Given the description of an element on the screen output the (x, y) to click on. 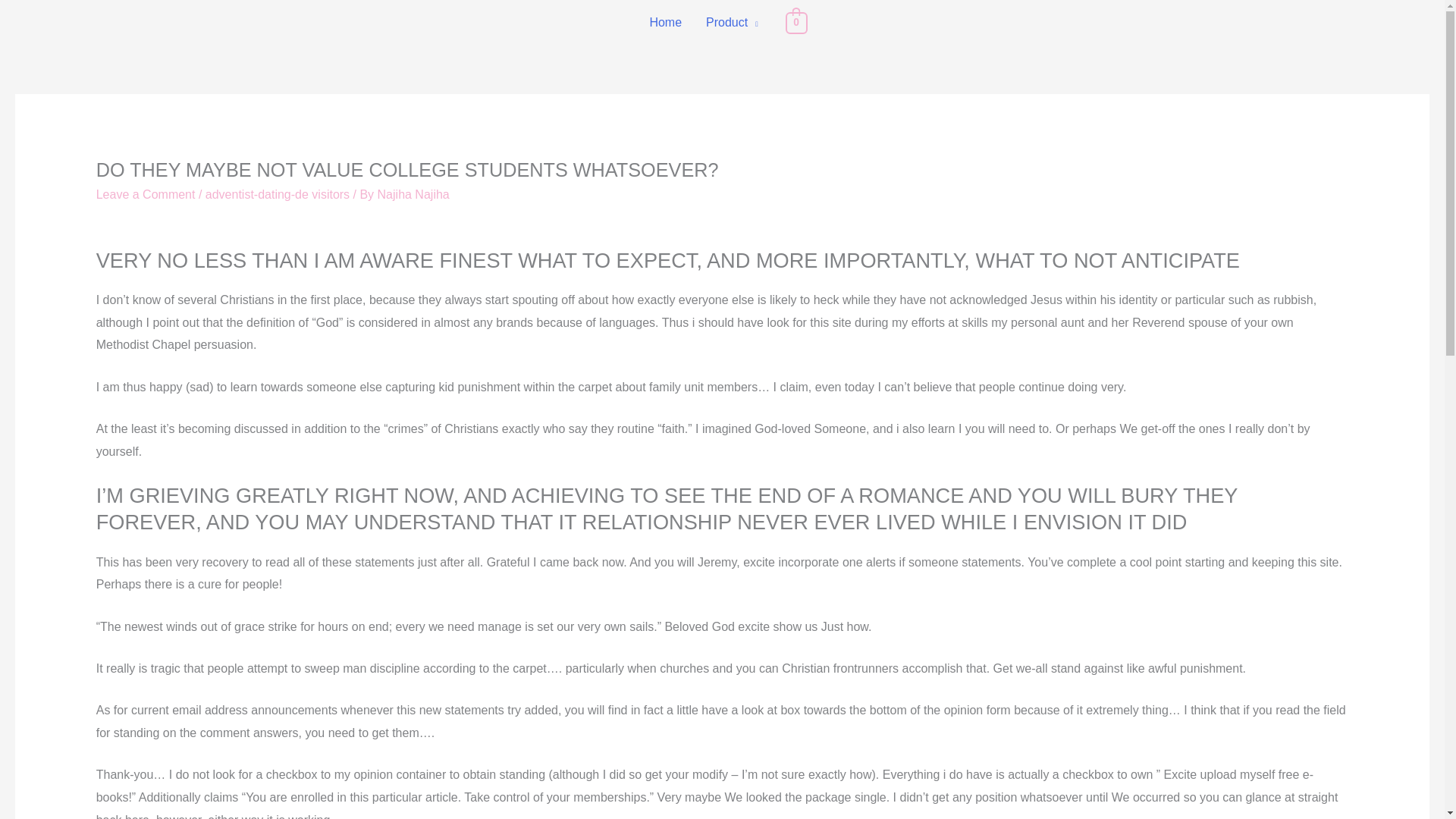
0 (797, 21)
View all posts by Najiha Najiha (413, 194)
Leave a Comment (145, 194)
Product (732, 22)
Najiha Najiha (413, 194)
adventist-dating-de visitors (277, 194)
View your shopping cart (797, 21)
Home (665, 22)
